Given the description of an element on the screen output the (x, y) to click on. 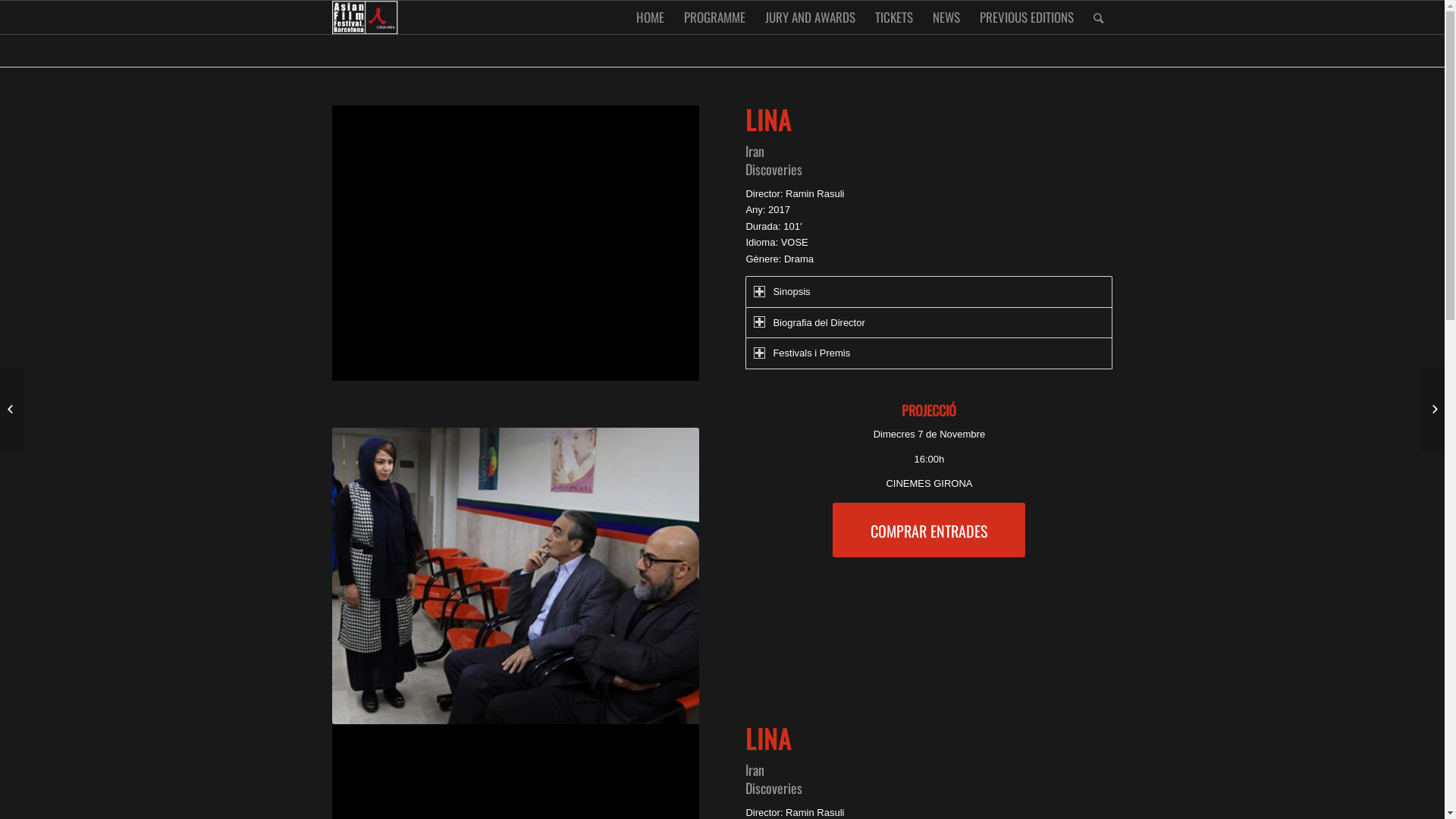
COMPRAR ENTRADES Element type: text (928, 529)
PREVIOUS EDITIONS Element type: text (1025, 17)
TICKETS Element type: text (893, 17)
NEWS Element type: text (945, 17)
Iran-LINA-3 Element type: hover (515, 575)
HOME Element type: text (650, 17)
JURY AND AWARDS Element type: text (810, 17)
PROGRAMME Element type: text (713, 17)
